Given the description of an element on the screen output the (x, y) to click on. 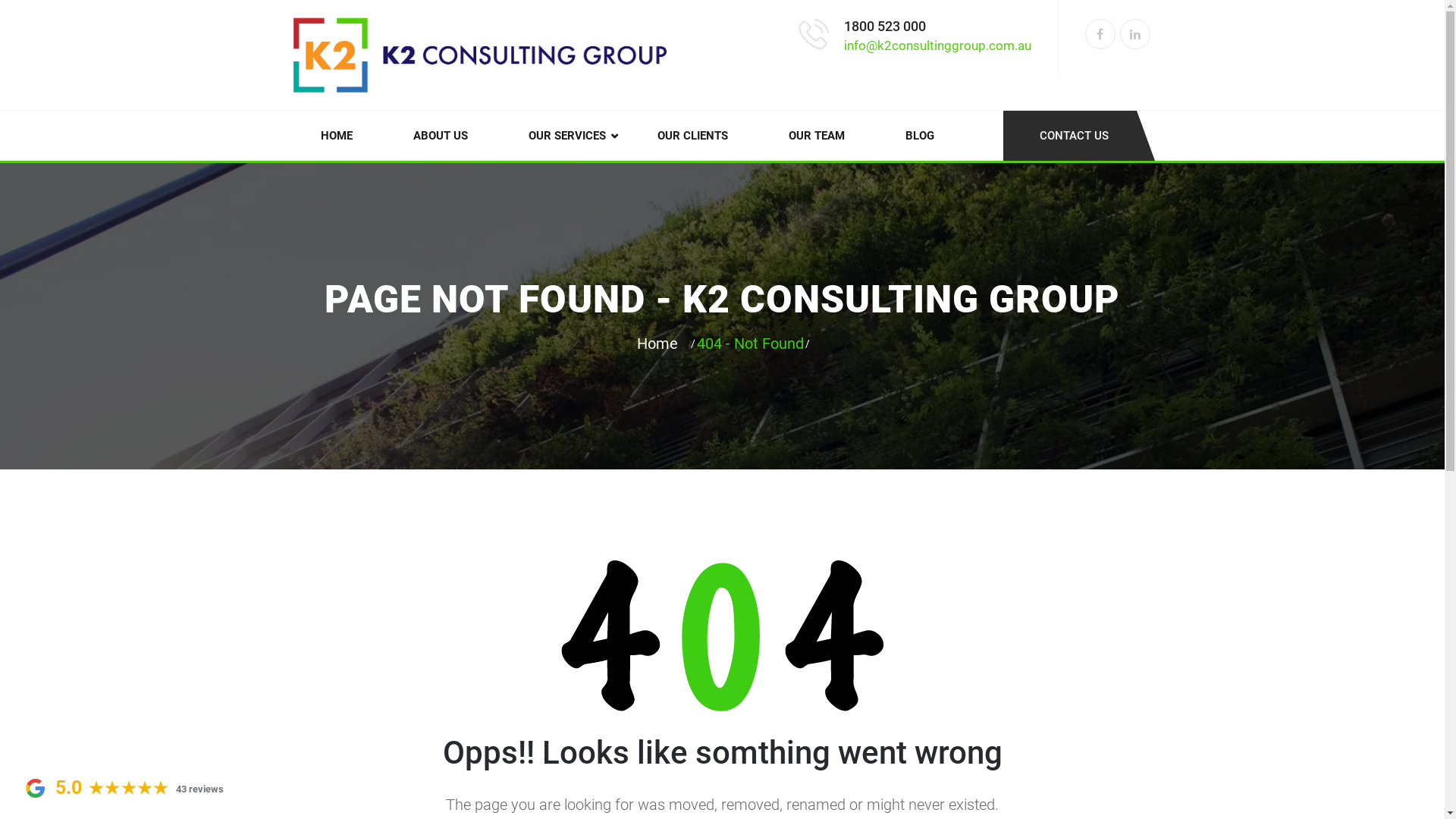
OUR SERVICES Element type: text (561, 135)
OUR CLIENTS Element type: text (691, 135)
info@k2consultinggroup.com.au Element type: text (936, 45)
43 reviews Element type: text (199, 788)
OUR TEAM Element type: text (816, 135)
Home Element type: text (661, 343)
HOME Element type: text (335, 135)
BLOG Element type: text (919, 135)
Powered by Google Element type: hover (34, 787)
CONTACT US Element type: text (1078, 135)
1800 523 000 Element type: text (884, 26)
ABOUT US Element type: text (439, 135)
Arctica Element type: hover (478, 54)
